Given the description of an element on the screen output the (x, y) to click on. 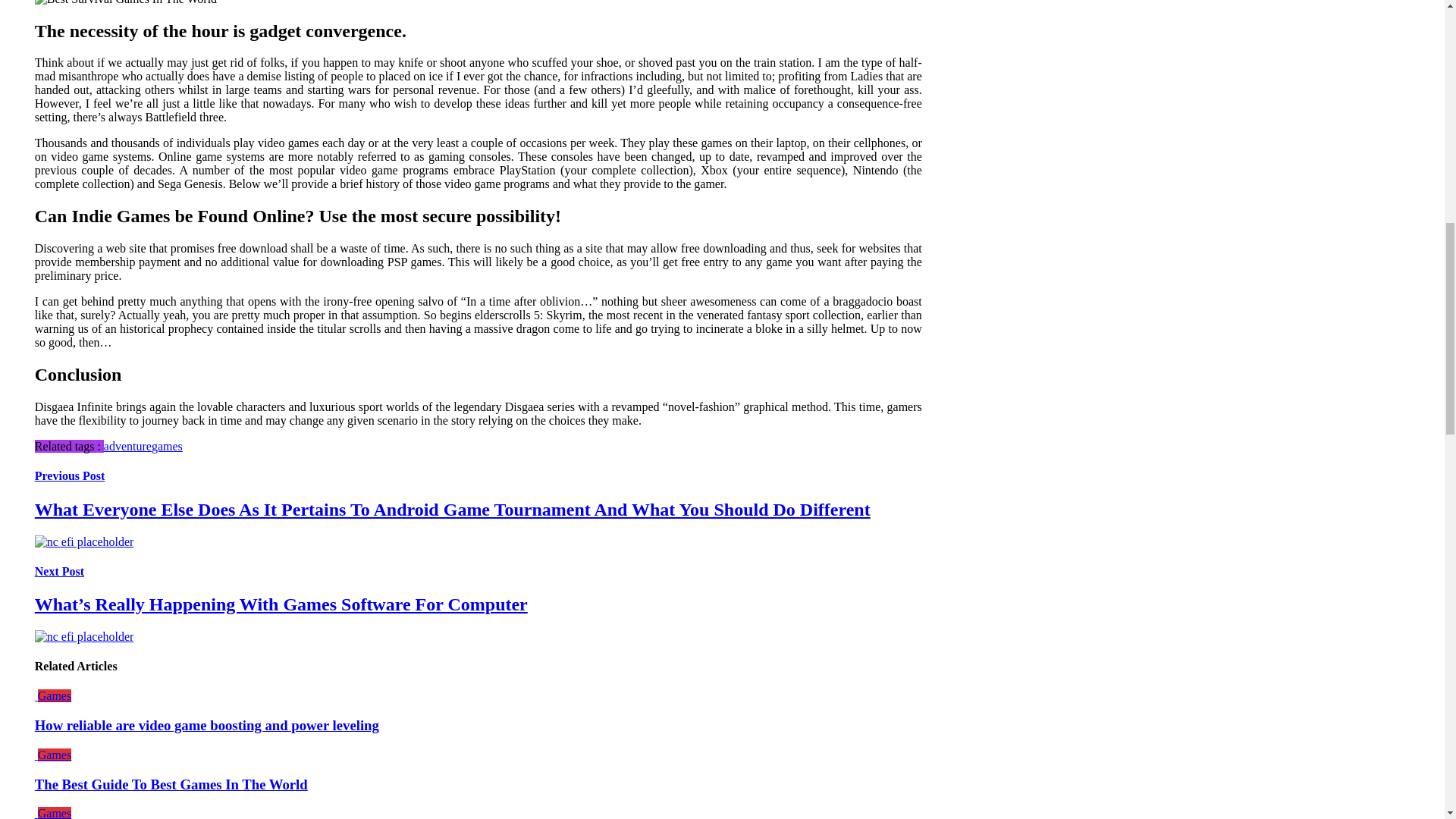
Next Post (59, 571)
adventure (127, 445)
Previous Post (69, 475)
What's Really Happening With Games Software For Computer (83, 636)
games (167, 445)
